Given the description of an element on the screen output the (x, y) to click on. 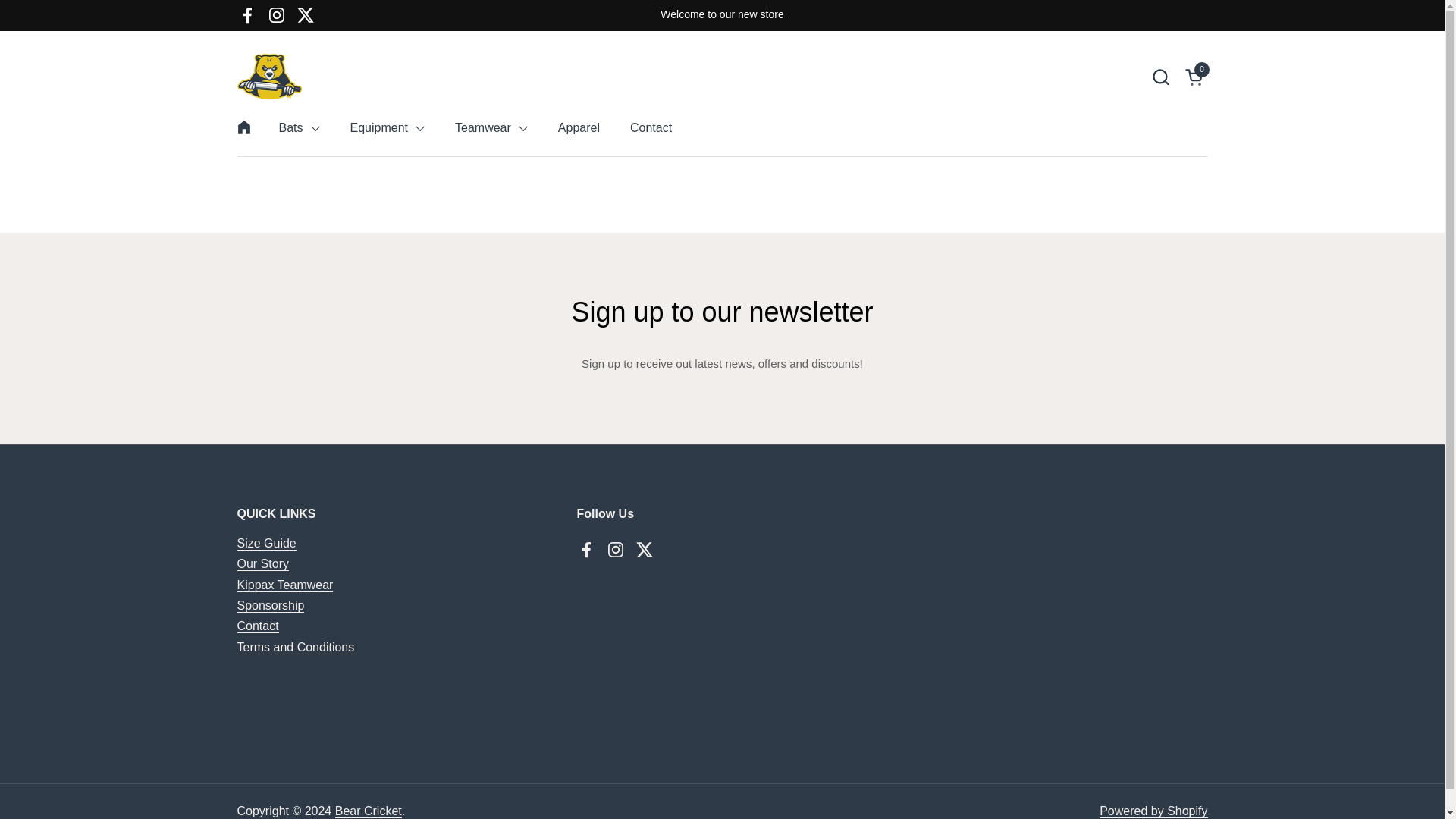
Twitter (305, 14)
Bear Cricket (268, 76)
Facebook (247, 14)
Equipment (387, 127)
Instagram (276, 14)
Teamwear (491, 127)
Open cart (1196, 75)
Open search (1160, 75)
